Given the description of an element on the screen output the (x, y) to click on. 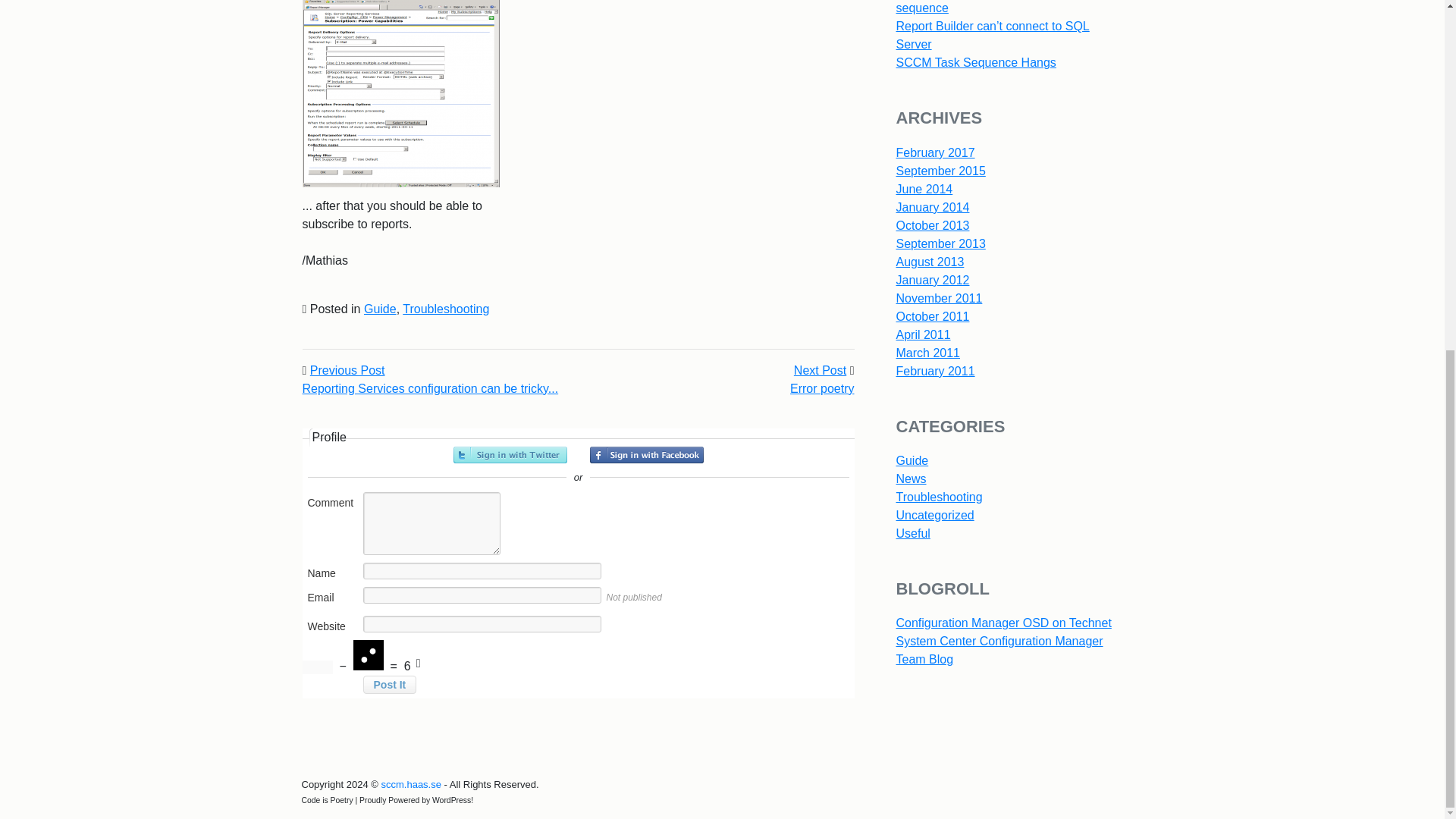
Sign in with Twitter (509, 454)
October 2011 (932, 316)
Sign in with Facebook (646, 454)
Guide (912, 460)
February 2011 (935, 370)
June 2014 (924, 188)
Troubleshooting (446, 308)
System Center Configuration Manager Team Blog (999, 649)
Troubleshooting (939, 496)
August 2013 (929, 261)
